Given the description of an element on the screen output the (x, y) to click on. 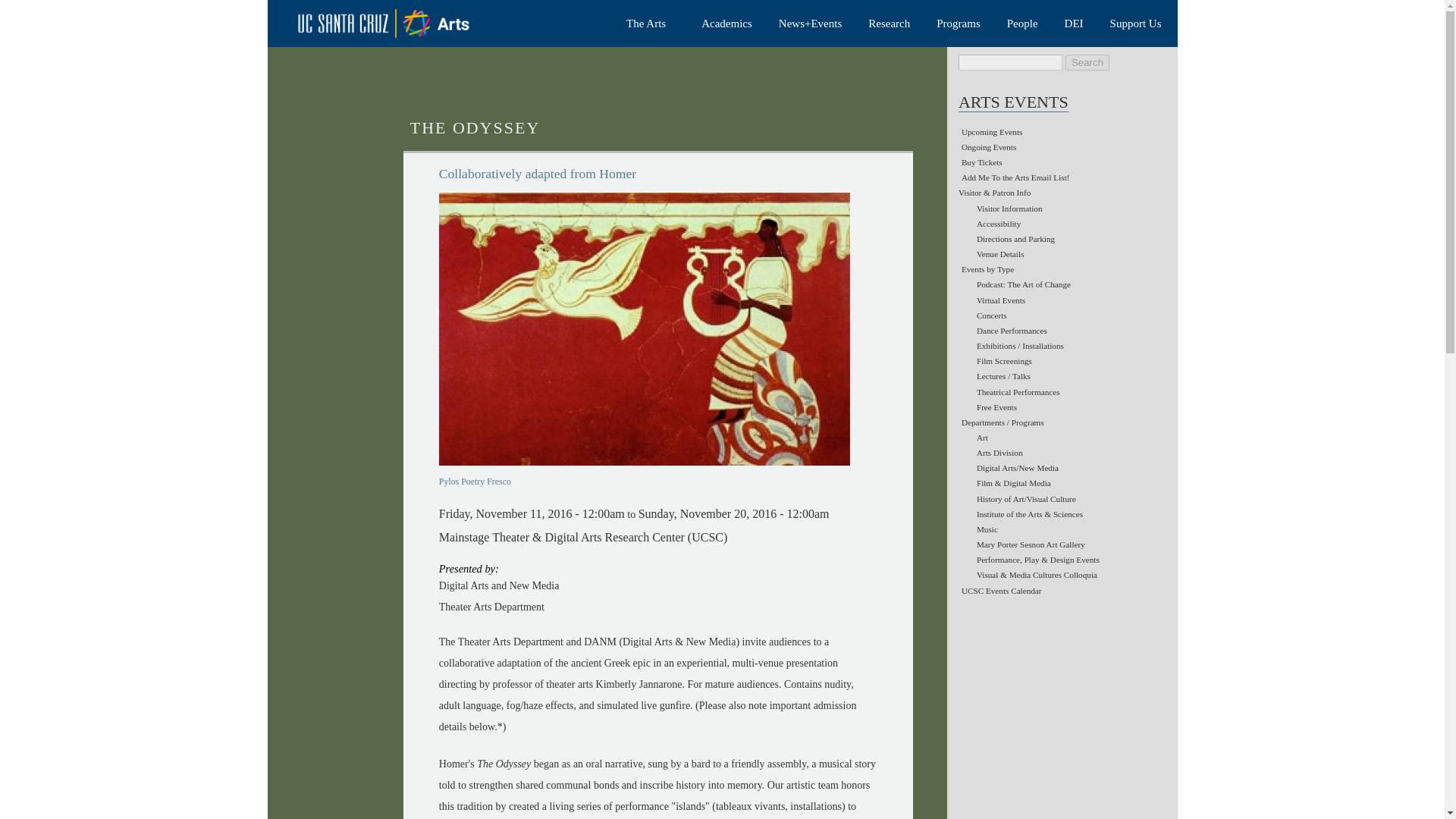
Search (1087, 62)
Give to the Arts (1138, 23)
Support Us (1138, 23)
UC Santa Cruz (393, 23)
People (1024, 23)
People (1024, 23)
DEI (1076, 23)
UC Santa Cruz (393, 23)
Diversity, Equity, and Inclusion (1076, 23)
